Given the description of an element on the screen output the (x, y) to click on. 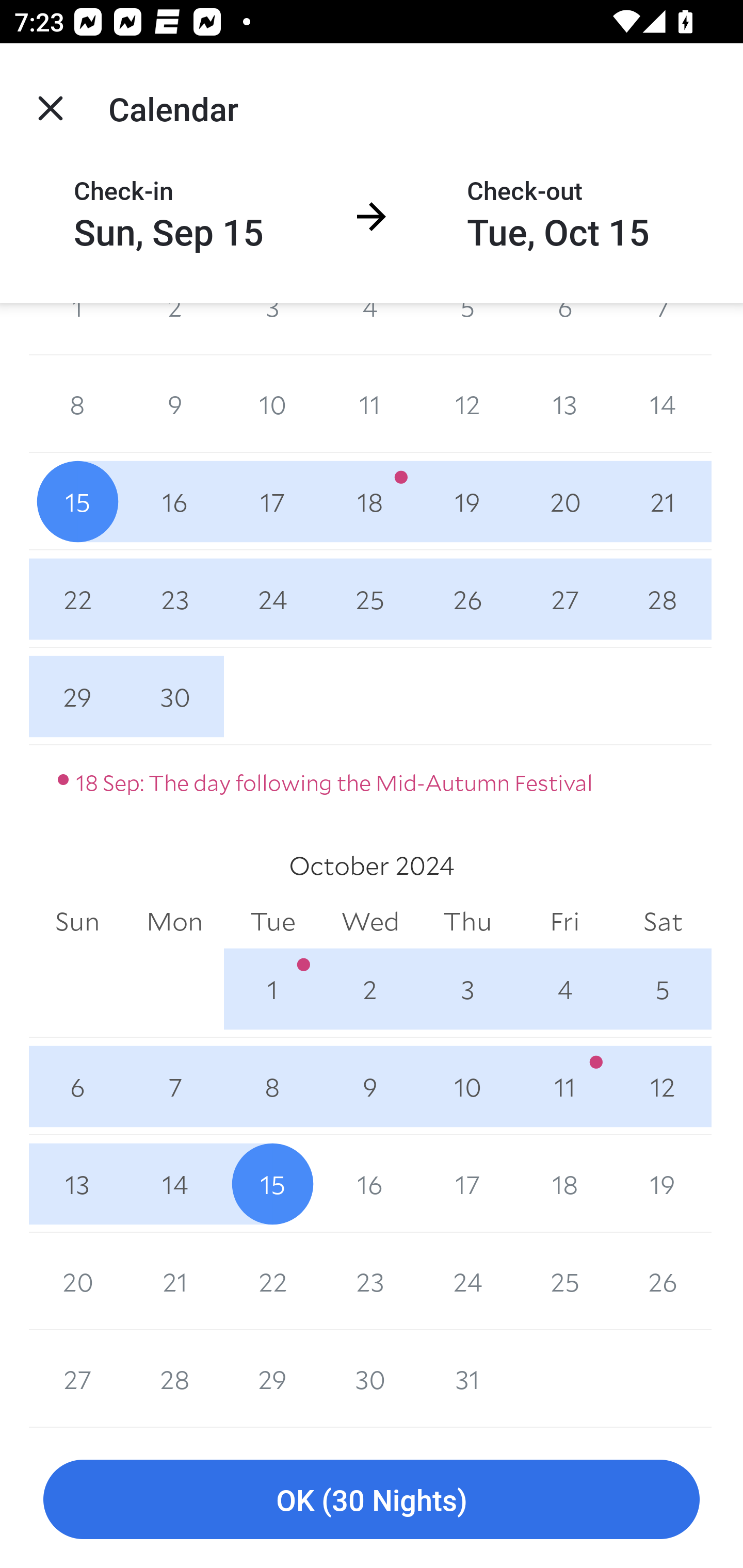
8 8 September 2024 (77, 404)
9 9 September 2024 (174, 404)
10 10 September 2024 (272, 404)
11 11 September 2024 (370, 404)
12 12 September 2024 (467, 404)
13 13 September 2024 (564, 404)
14 14 September 2024 (662, 404)
15 15 September 2024 (77, 501)
16 16 September 2024 (174, 501)
17 17 September 2024 (272, 501)
18 18 September 2024 (370, 501)
19 19 September 2024 (467, 501)
20 20 September 2024 (564, 501)
21 21 September 2024 (662, 501)
22 22 September 2024 (77, 598)
23 23 September 2024 (174, 598)
24 24 September 2024 (272, 598)
25 25 September 2024 (370, 598)
26 26 September 2024 (467, 598)
27 27 September 2024 (564, 598)
28 28 September 2024 (662, 598)
29 29 September 2024 (77, 695)
30 30 September 2024 (174, 695)
Sun (77, 921)
Mon (174, 921)
Tue (272, 921)
Wed (370, 921)
Thu (467, 921)
Fri (564, 921)
Sat (662, 921)
1 1 October 2024 (272, 989)
2 2 October 2024 (370, 989)
3 3 October 2024 (467, 989)
4 4 October 2024 (564, 989)
5 5 October 2024 (662, 989)
6 6 October 2024 (77, 1086)
7 7 October 2024 (174, 1086)
8 8 October 2024 (272, 1086)
9 9 October 2024 (370, 1086)
10 10 October 2024 (467, 1086)
11 11 October 2024 (564, 1086)
12 12 October 2024 (662, 1086)
13 13 October 2024 (77, 1183)
14 14 October 2024 (174, 1183)
15 15 October 2024 (272, 1183)
16 16 October 2024 (370, 1183)
17 17 October 2024 (467, 1183)
18 18 October 2024 (564, 1183)
19 19 October 2024 (662, 1183)
